Given the description of an element on the screen output the (x, y) to click on. 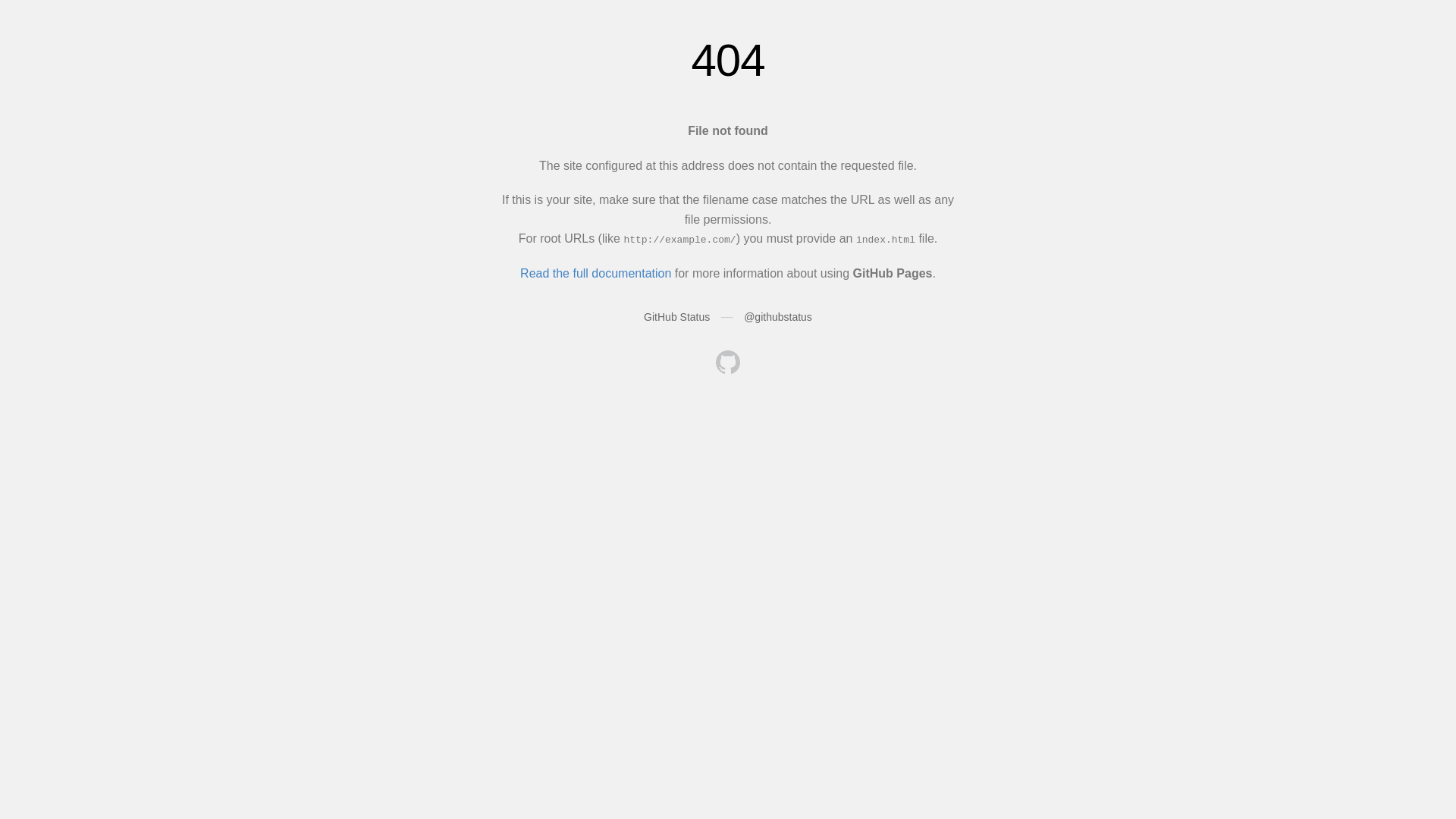
@githubstatus Element type: text (777, 316)
Read the full documentation Element type: text (595, 272)
GitHub Status Element type: text (676, 316)
